Given the description of an element on the screen output the (x, y) to click on. 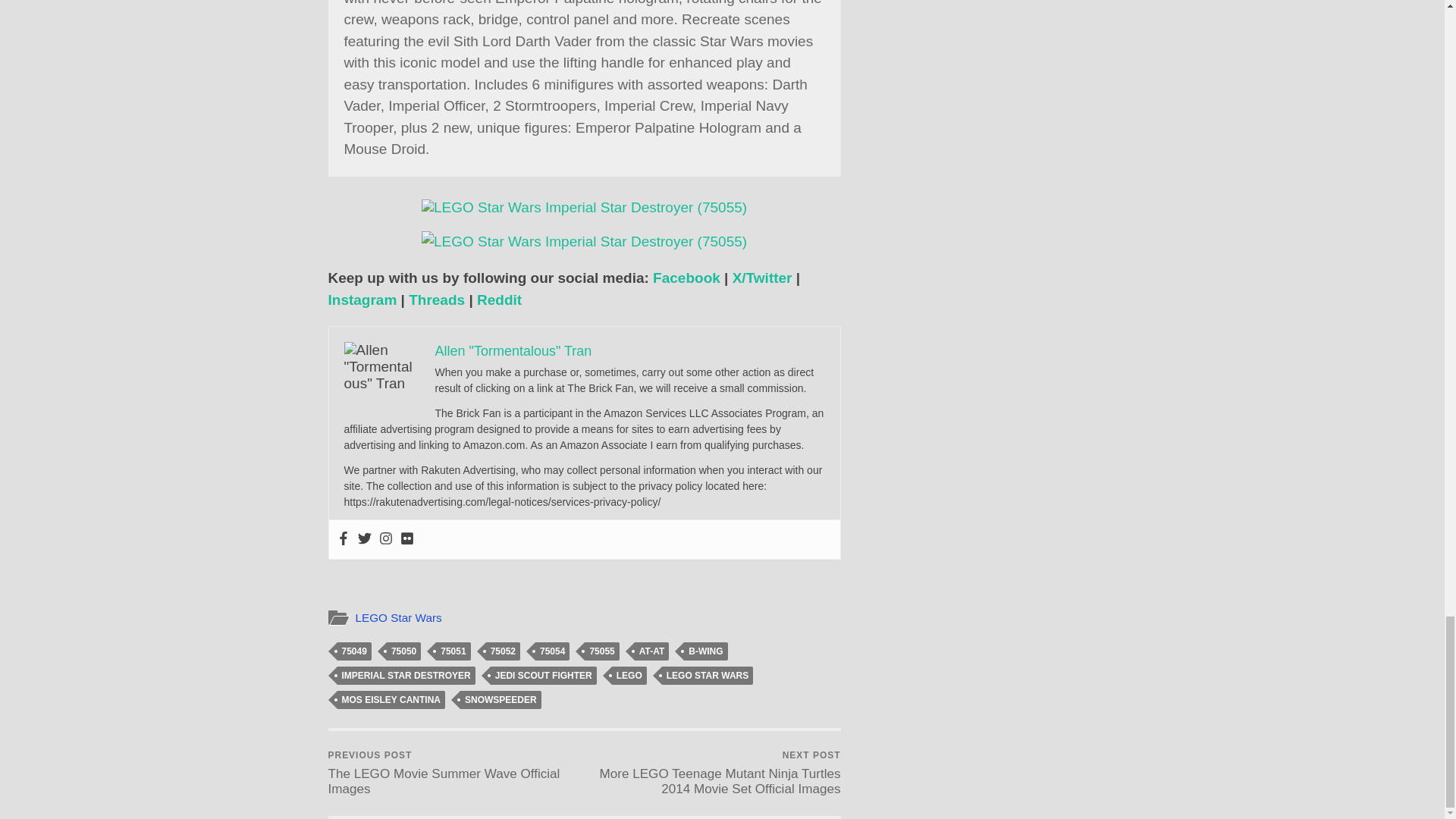
Threads (436, 299)
Facebook (686, 277)
Instagram (361, 299)
